Given the description of an element on the screen output the (x, y) to click on. 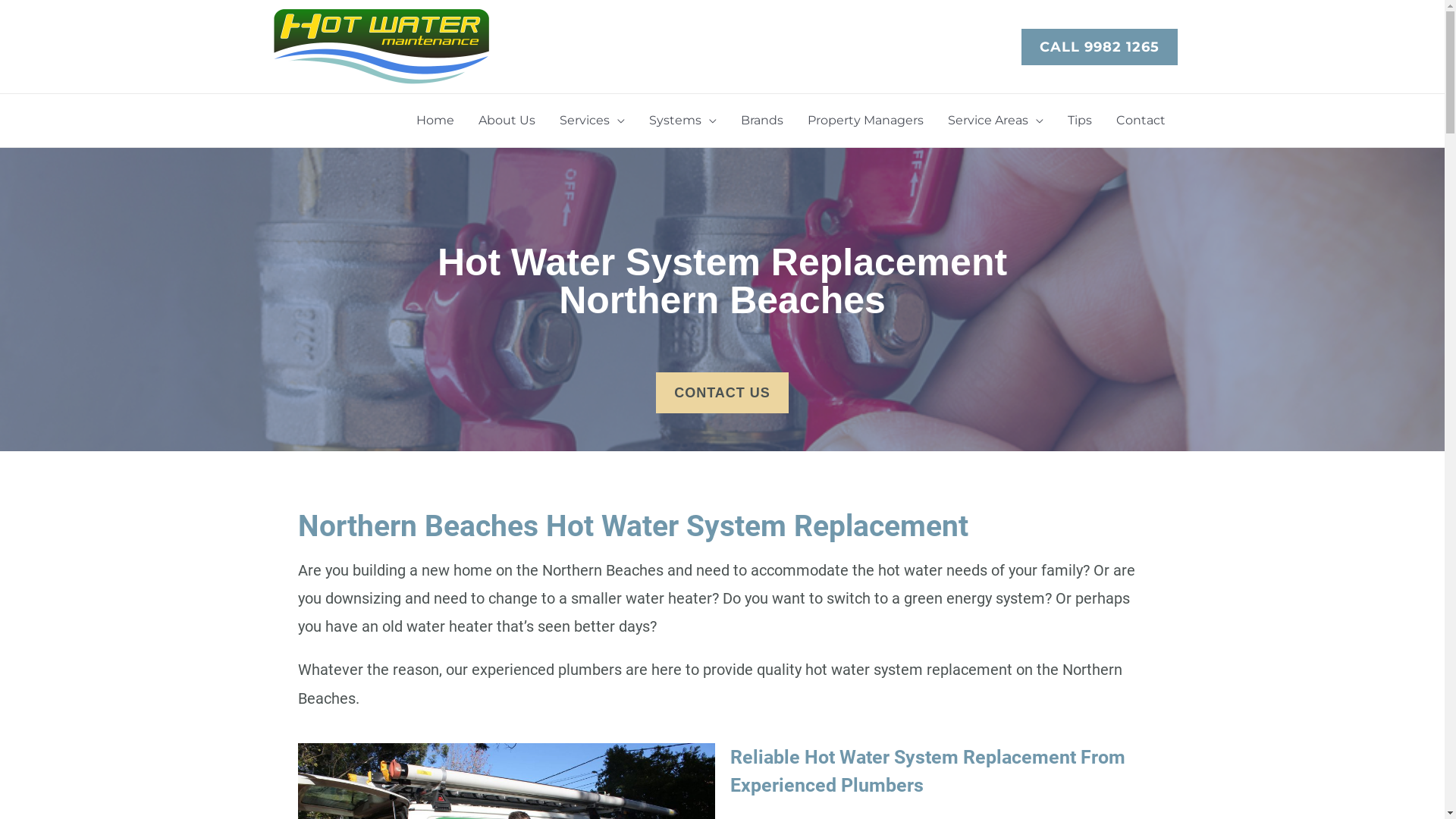
Home Element type: text (434, 120)
CALL 9982 1265 Element type: text (1098, 46)
About Us Element type: text (505, 120)
Tips Element type: text (1079, 120)
Contact Element type: text (1140, 120)
Brands Element type: text (761, 120)
Property Managers Element type: text (864, 120)
Systems Element type: text (682, 120)
CONTACT US Element type: text (721, 392)
Service Areas Element type: text (995, 120)
Services Element type: text (592, 120)
